Given the description of an element on the screen output the (x, y) to click on. 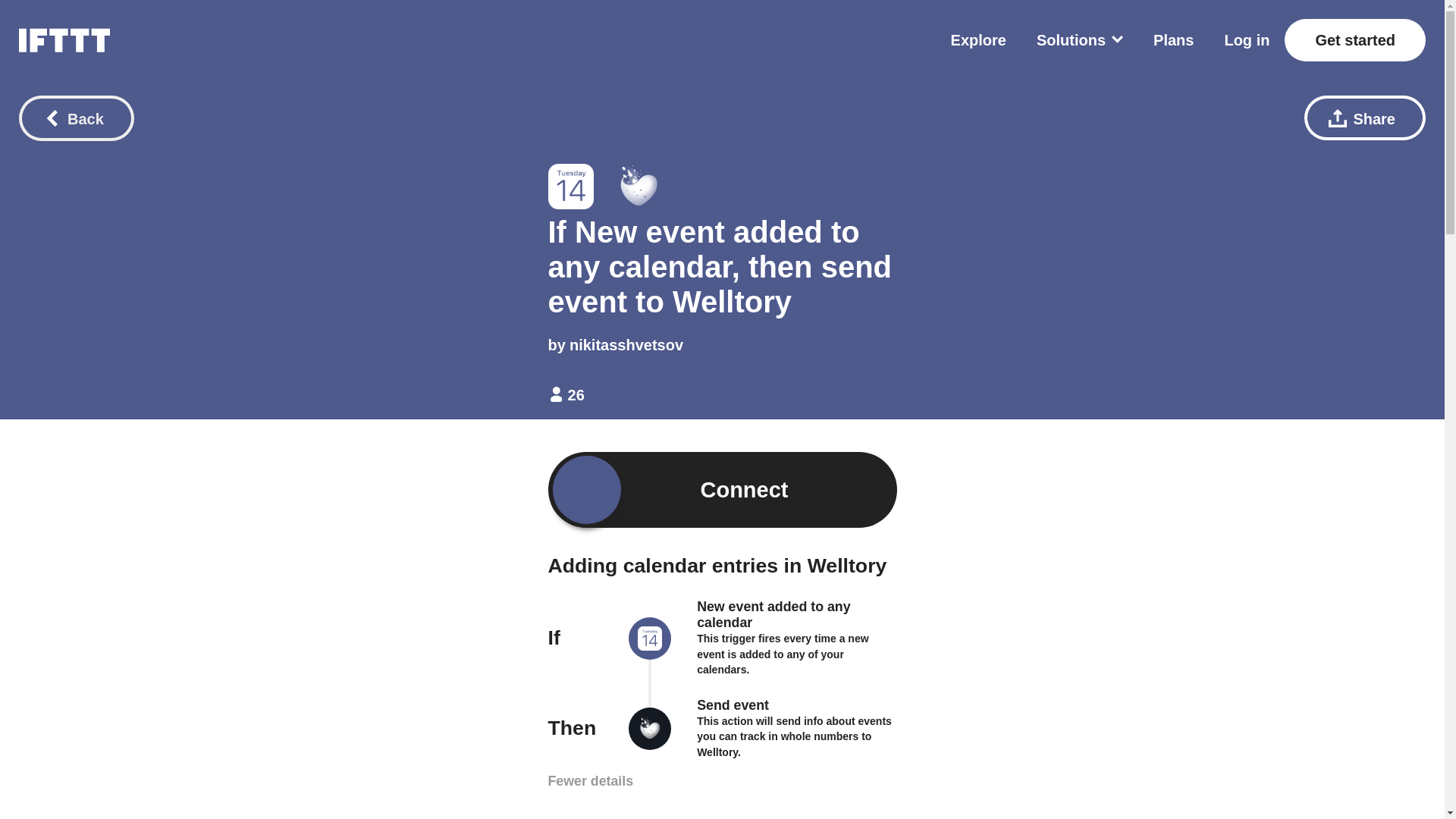
Home (64, 40)
Get started (1354, 39)
iOS Calendar (649, 640)
Send event (732, 704)
Plans (1173, 39)
nikitasshvetsov (625, 344)
Plans (1173, 39)
Back (75, 117)
Share (1364, 117)
